Given the description of an element on the screen output the (x, y) to click on. 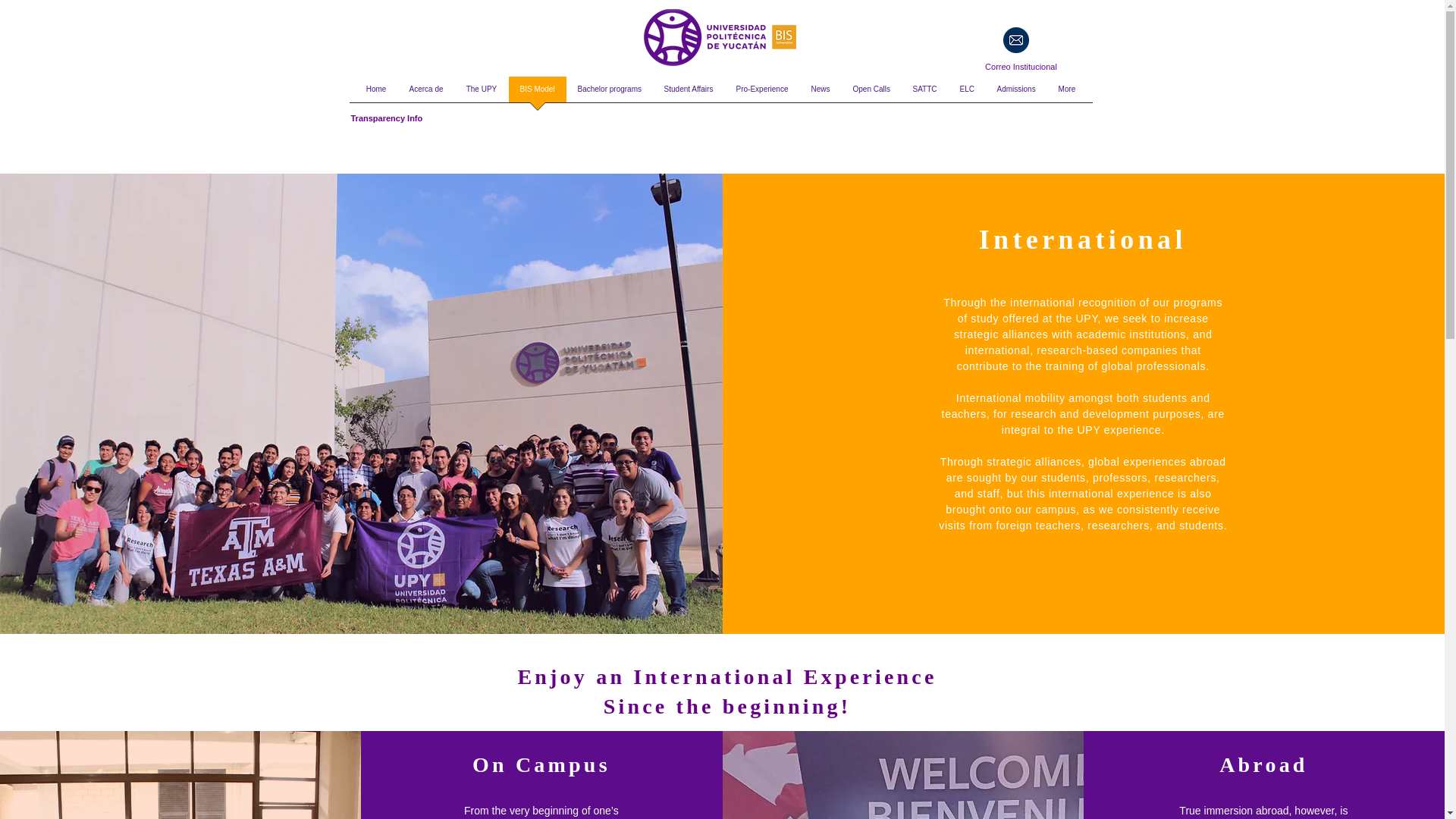
BIS Model (537, 94)
Student Affairs (687, 94)
 Correo Institucional  (1020, 66)
SATTC (924, 94)
Bachelor programs (609, 94)
The UPY (481, 94)
Home (376, 94)
Acerca de (425, 94)
News (820, 94)
ELC (966, 94)
